Given the description of an element on the screen output the (x, y) to click on. 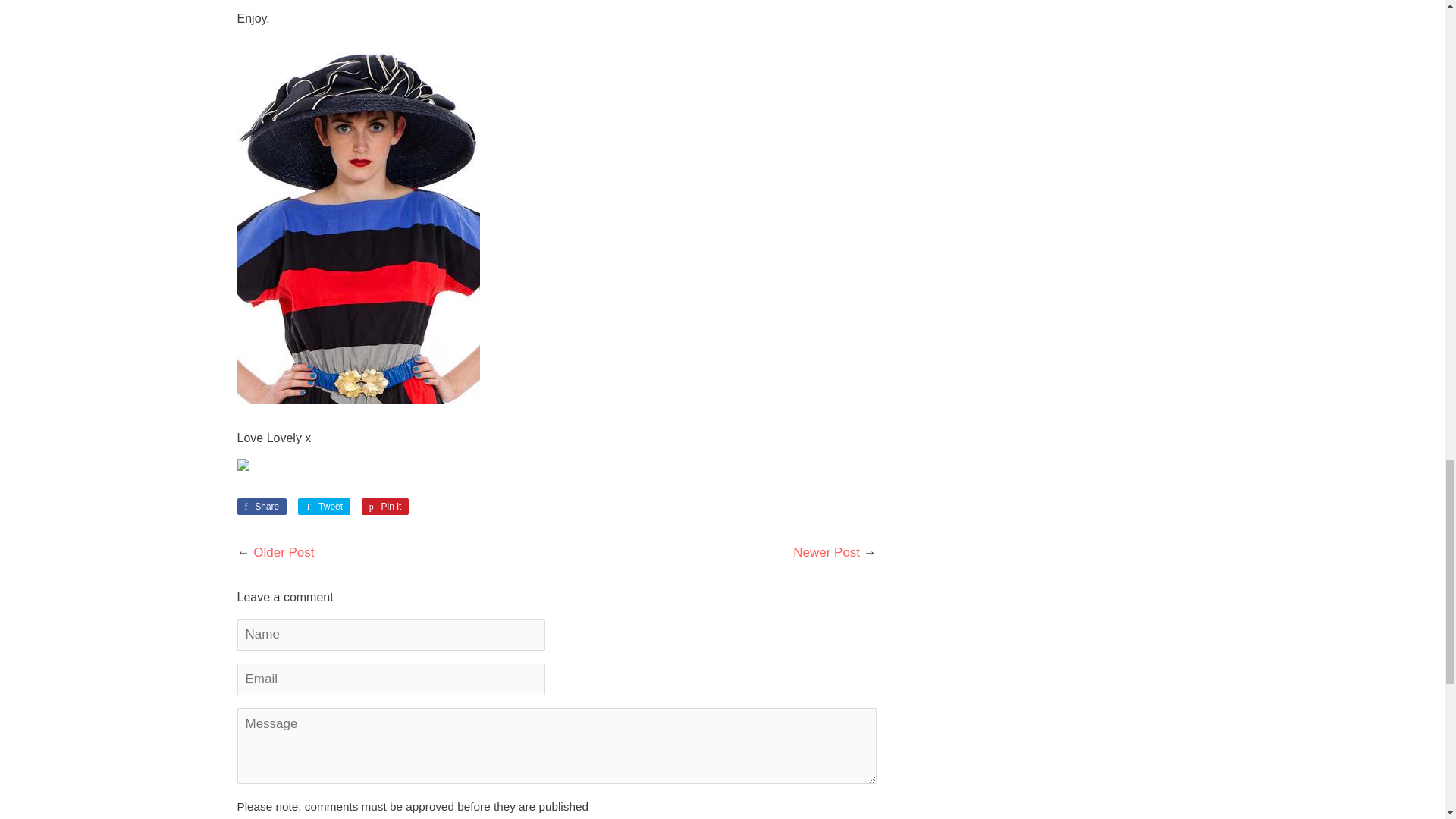
Tweet on Twitter (260, 506)
Share on Facebook (385, 506)
Older Post (324, 506)
Newer Post (260, 506)
Pin on Pinterest (324, 506)
